Given the description of an element on the screen output the (x, y) to click on. 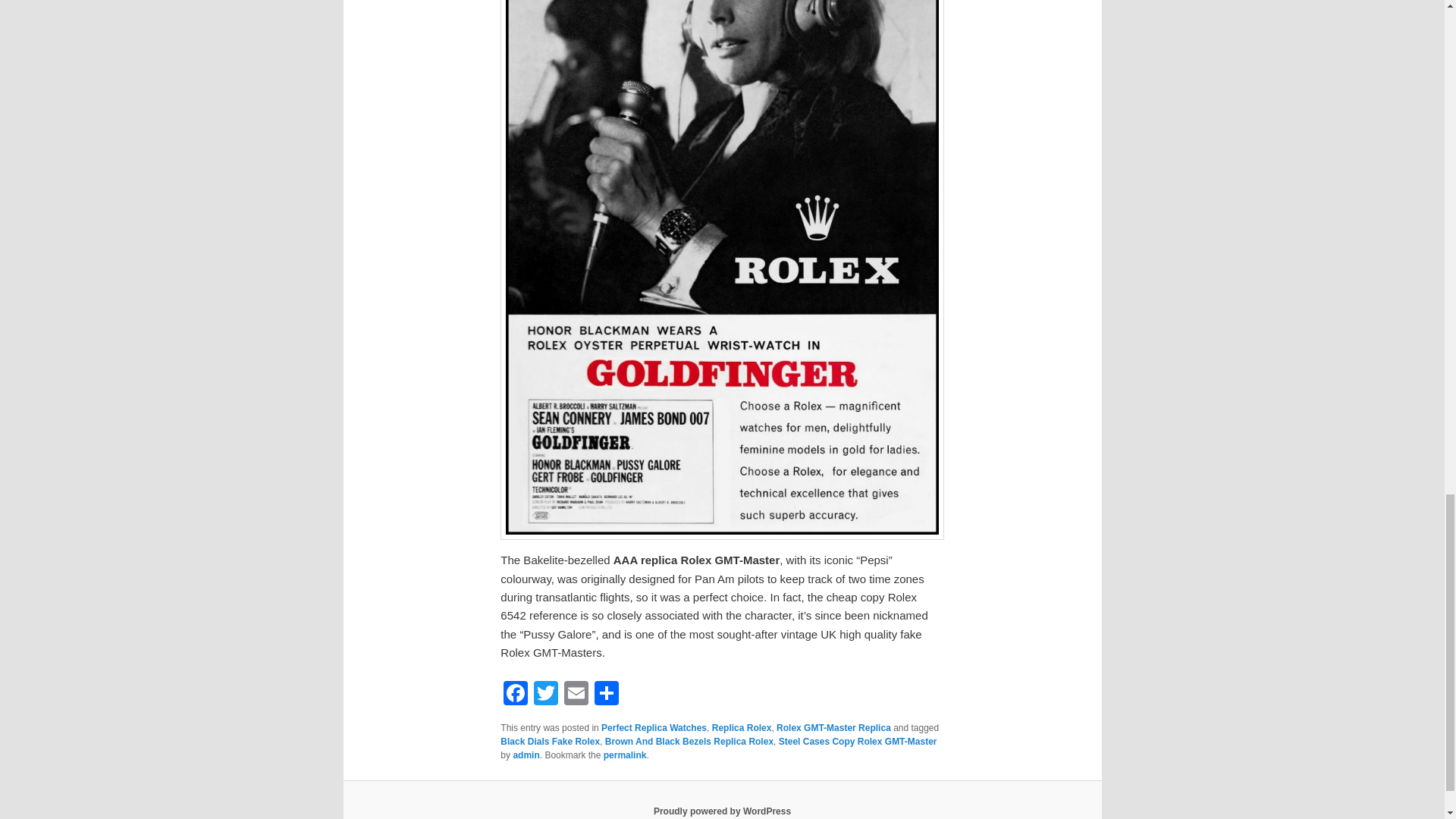
Rolex GMT-Master Replica (833, 727)
Twitter (545, 694)
Black Dials Fake Rolex (549, 741)
permalink (625, 755)
Email (575, 694)
Replica Rolex (741, 727)
admin (525, 755)
Brown And Black Bezels Replica Rolex (689, 741)
Facebook (515, 694)
Perfect Replica Watches (653, 727)
